Given the description of an element on the screen output the (x, y) to click on. 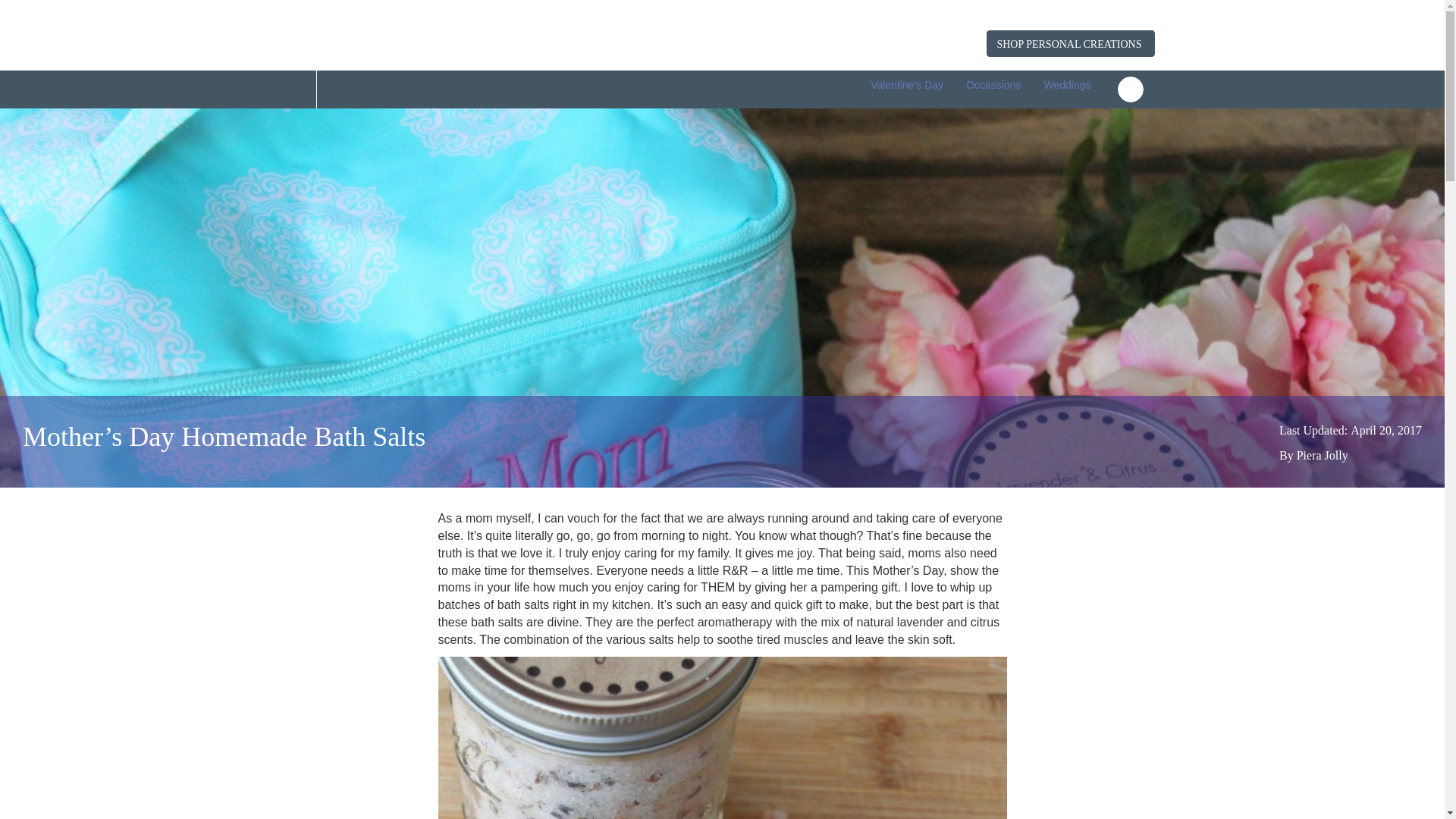
Logo Here (419, 34)
Weddings (1067, 85)
SHOP PERSONAL CREATIONS (1070, 43)
PC (298, 89)
Toggle navigation (1130, 89)
Occassions (993, 85)
